Given the description of an element on the screen output the (x, y) to click on. 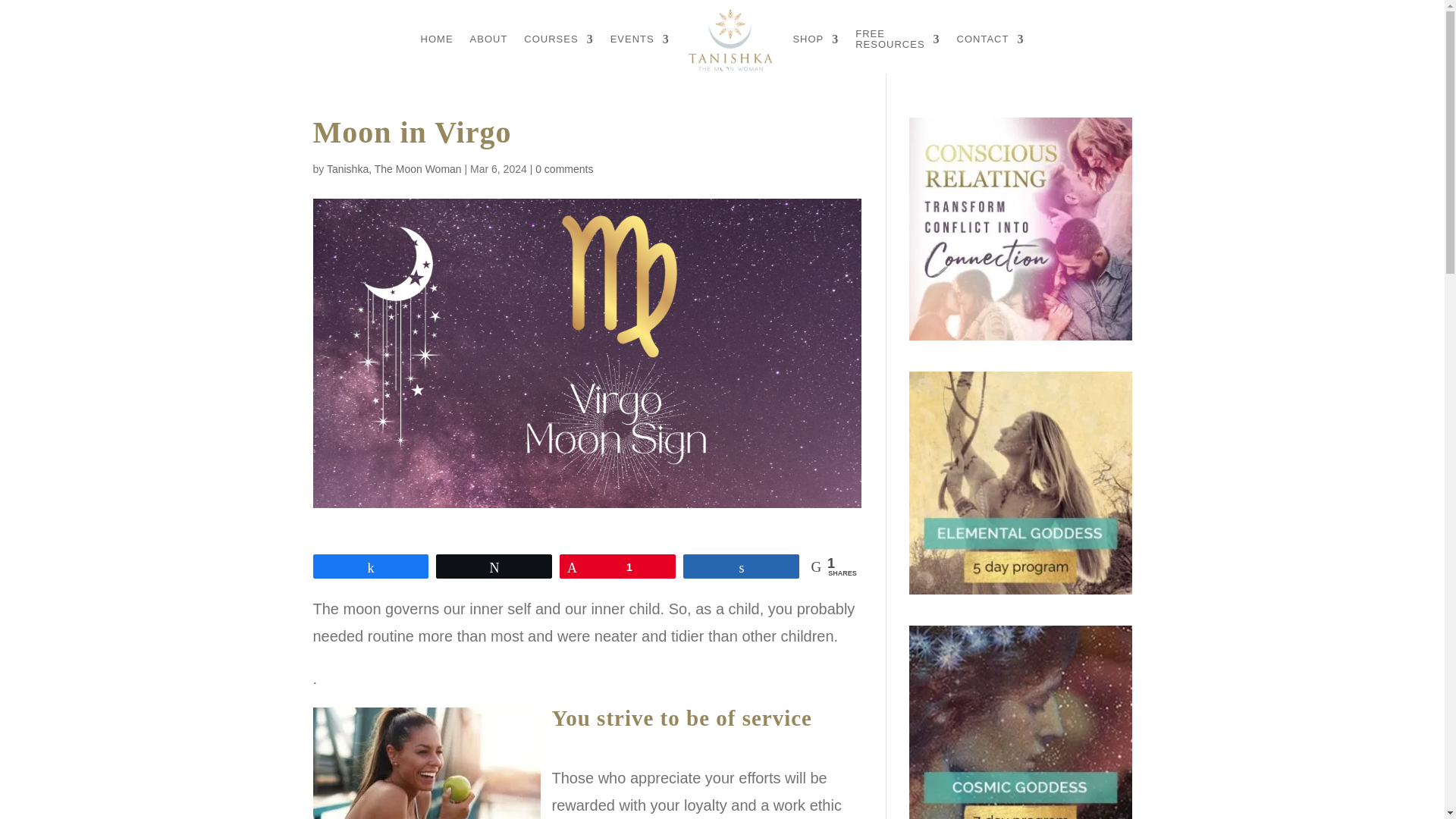
Posts by Tanishka, The Moon Woman (393, 168)
COURSES (558, 38)
